Given the description of an element on the screen output the (x, y) to click on. 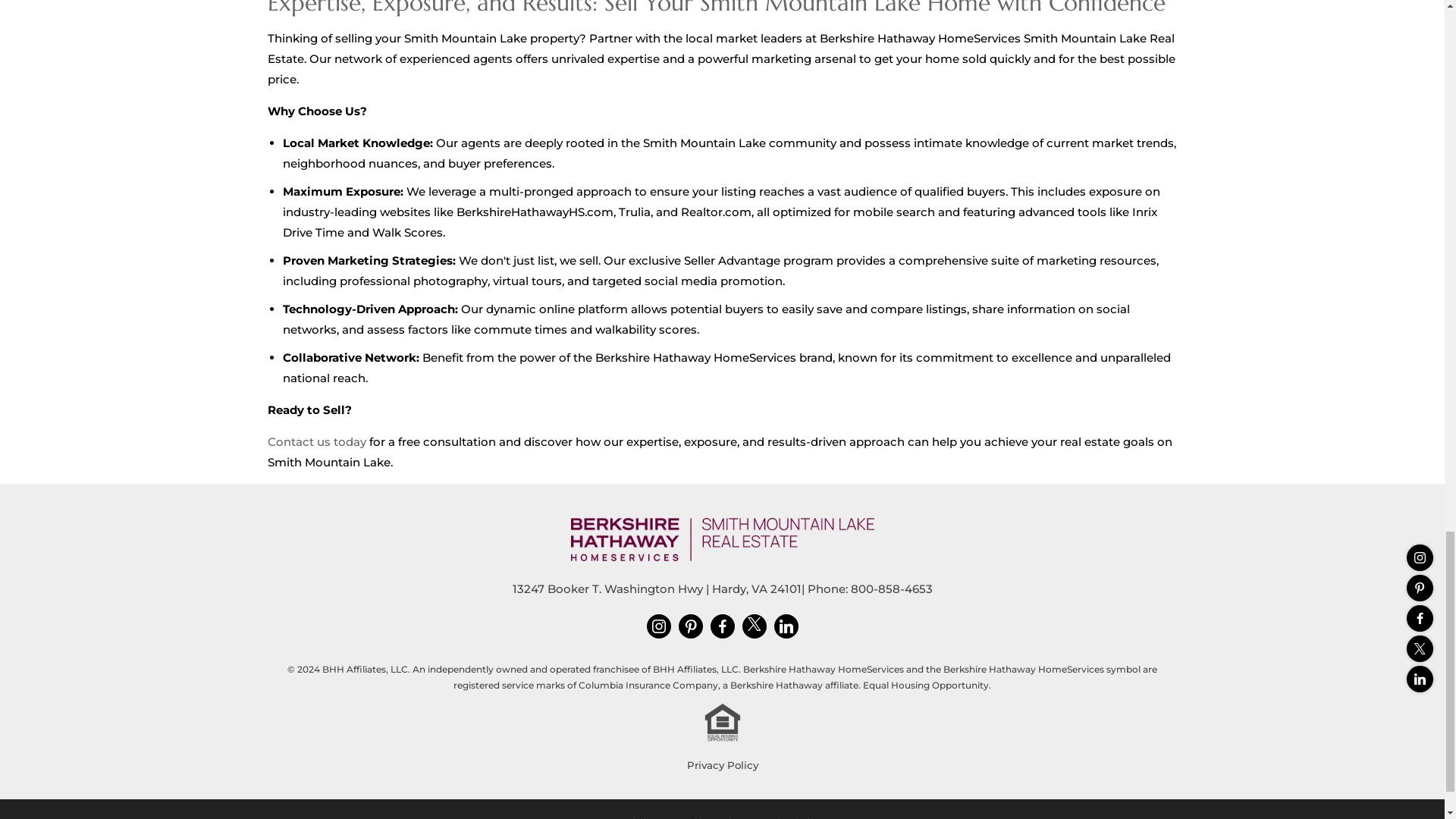
Visit us on LinkedIn (785, 626)
Visit us on Pinterest (690, 626)
Visit us on Instagram (658, 626)
Visit us on Facebook (722, 626)
